Given the description of an element on the screen output the (x, y) to click on. 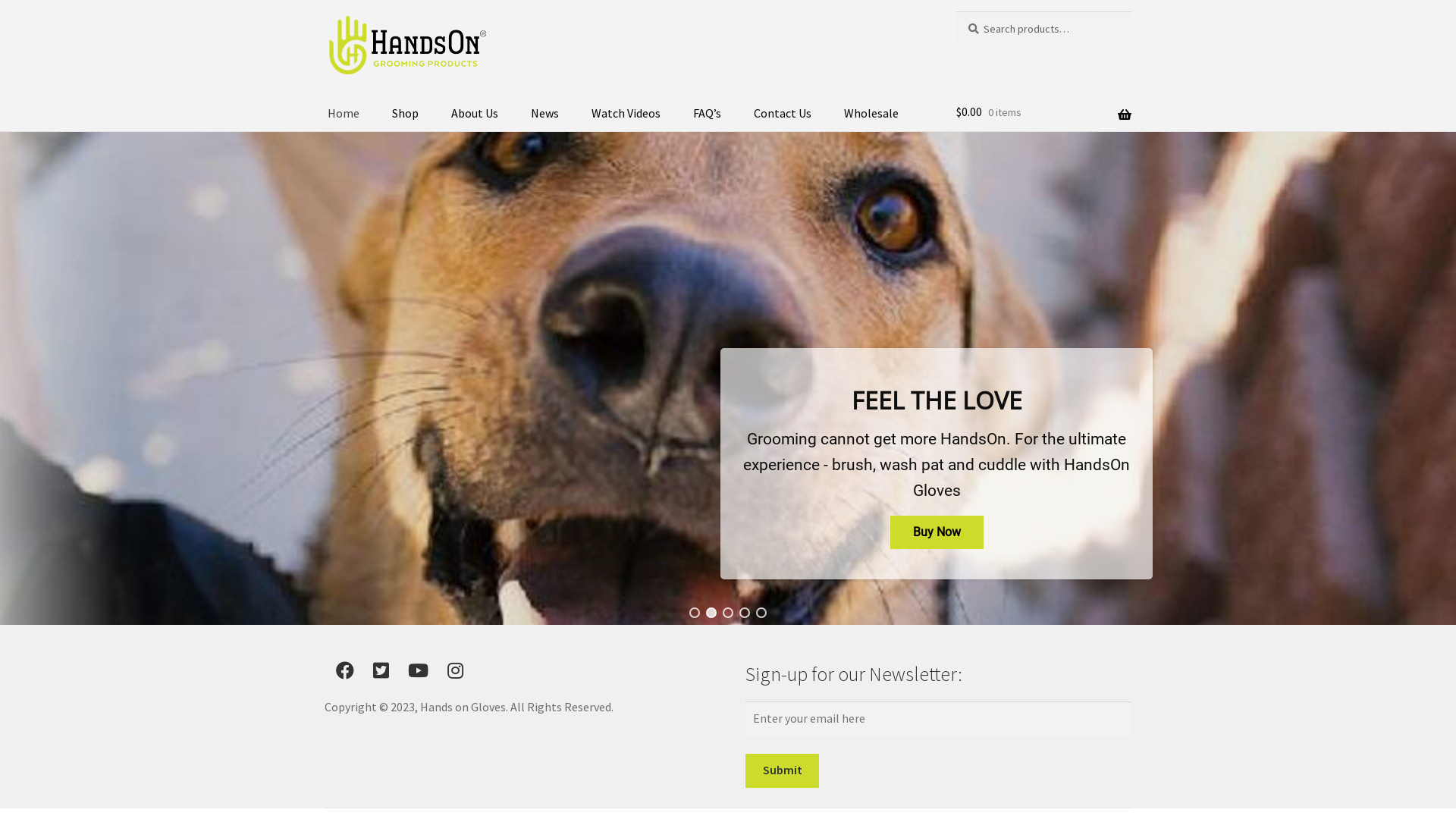
Buy Now Element type: text (936, 532)
Skip to navigation Element type: text (323, 10)
Submit Element type: text (782, 770)
Shop Element type: text (404, 113)
$0.00 0 items Element type: text (1043, 111)
Search Element type: text (955, 10)
Wholesale Element type: text (870, 113)
Home Element type: text (343, 113)
About Us Element type: text (474, 113)
News Element type: text (544, 113)
Watch Videos Element type: text (625, 113)
Contact Us Element type: text (782, 113)
